Given the description of an element on the screen output the (x, y) to click on. 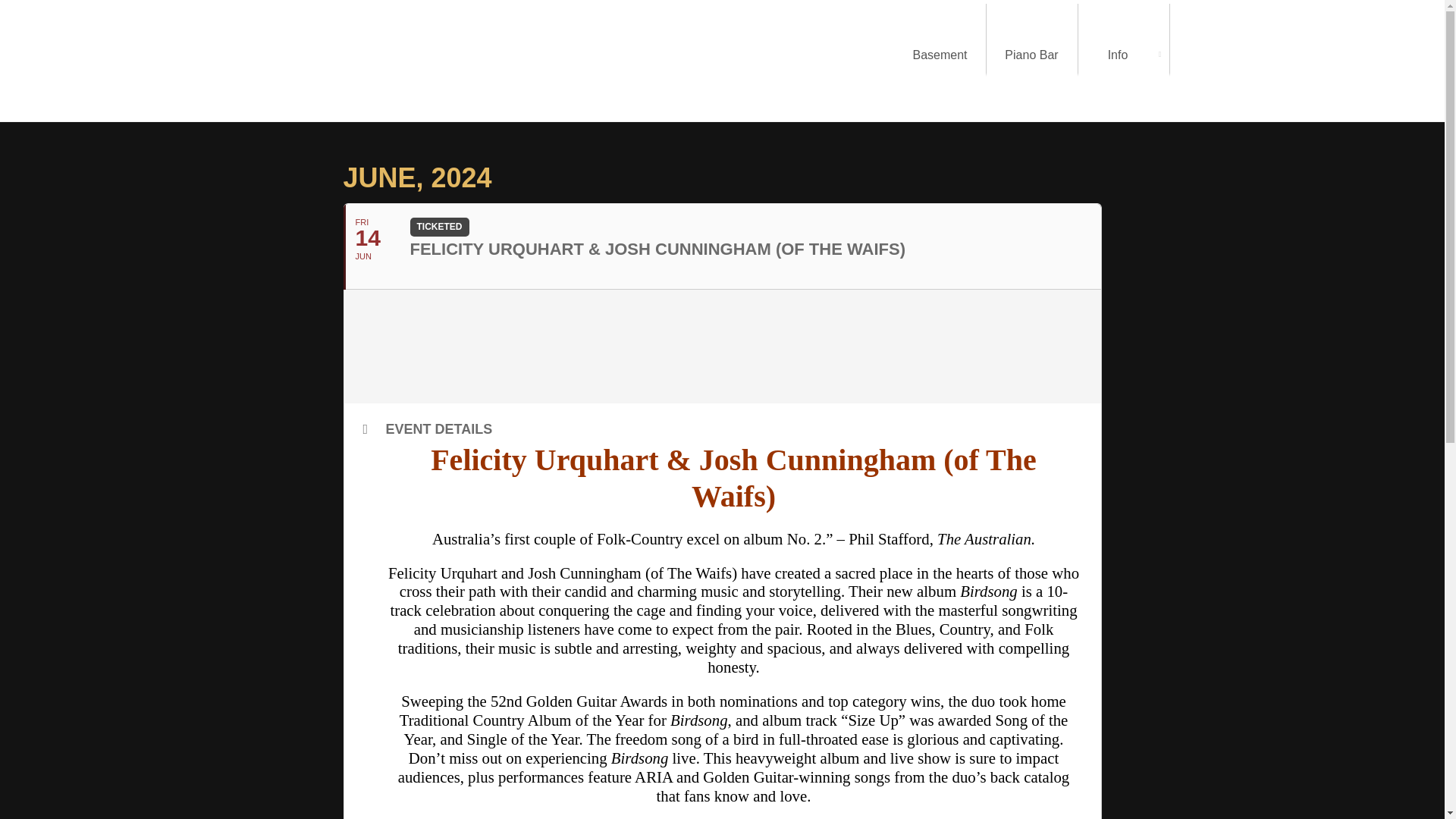
Info (1123, 54)
Basement (940, 54)
Piano Bar (1031, 54)
